Given the description of an element on the screen output the (x, y) to click on. 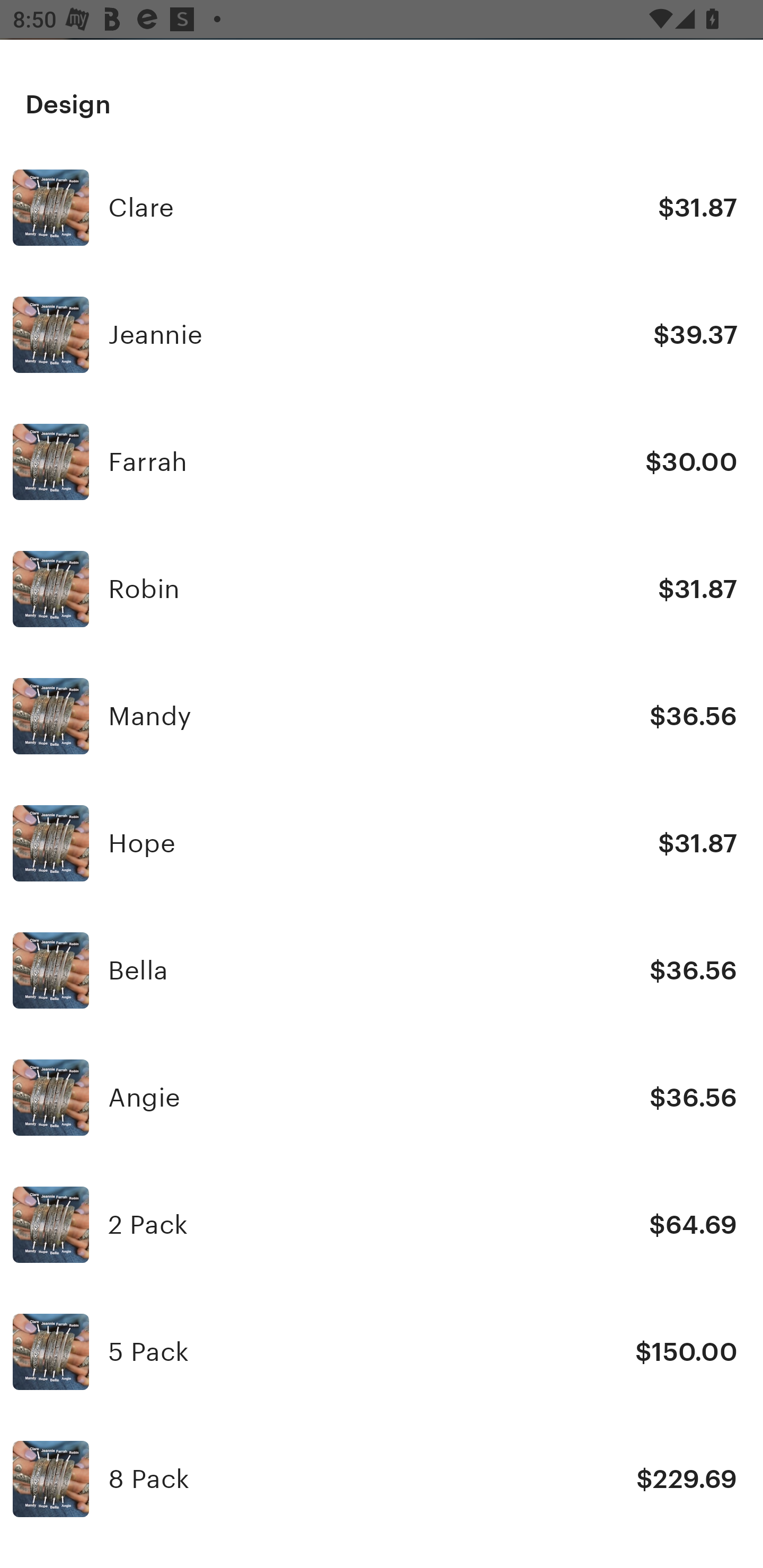
Clare $31.87 (381, 207)
Jeannie $39.37 (381, 334)
Farrah $30.00 (381, 461)
Robin $31.87 (381, 588)
Mandy $36.56 (381, 715)
Hope $31.87 (381, 842)
Bella $36.56 (381, 969)
Angie $36.56 (381, 1097)
2 Pack $64.69 (381, 1224)
5 Pack $150.00 (381, 1351)
8 Pack $229.69 (381, 1478)
